Given the description of an element on the screen output the (x, y) to click on. 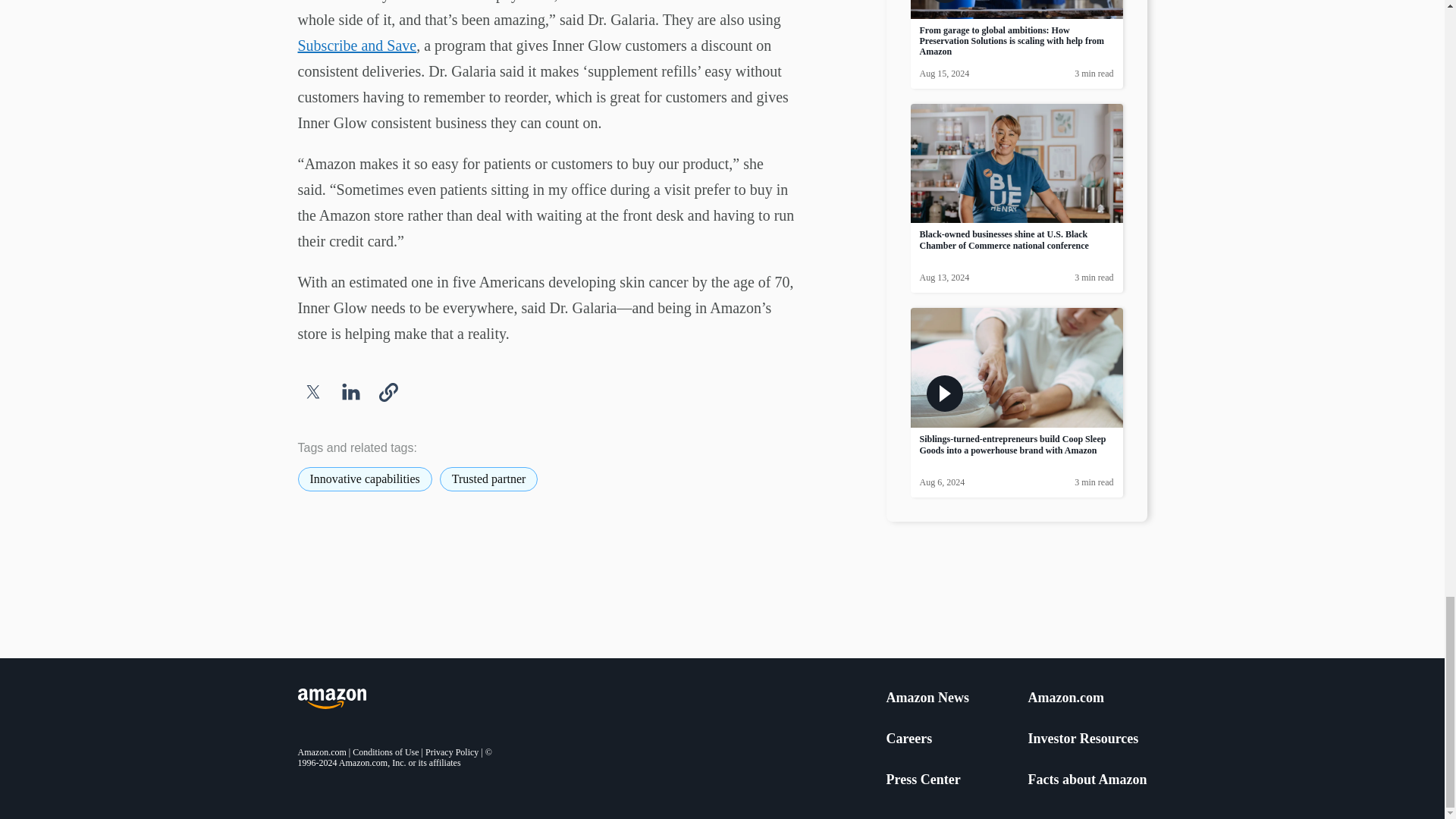
LinkedIn (349, 391)
Twitter (312, 391)
Careers (908, 738)
Subscribe and Save (356, 45)
Trusted partner (488, 478)
Innovative capabilities (363, 478)
Facts about Amazon (1087, 779)
Investor Resources (1082, 738)
Amazon News (927, 697)
Press Center (922, 779)
